Given the description of an element on the screen output the (x, y) to click on. 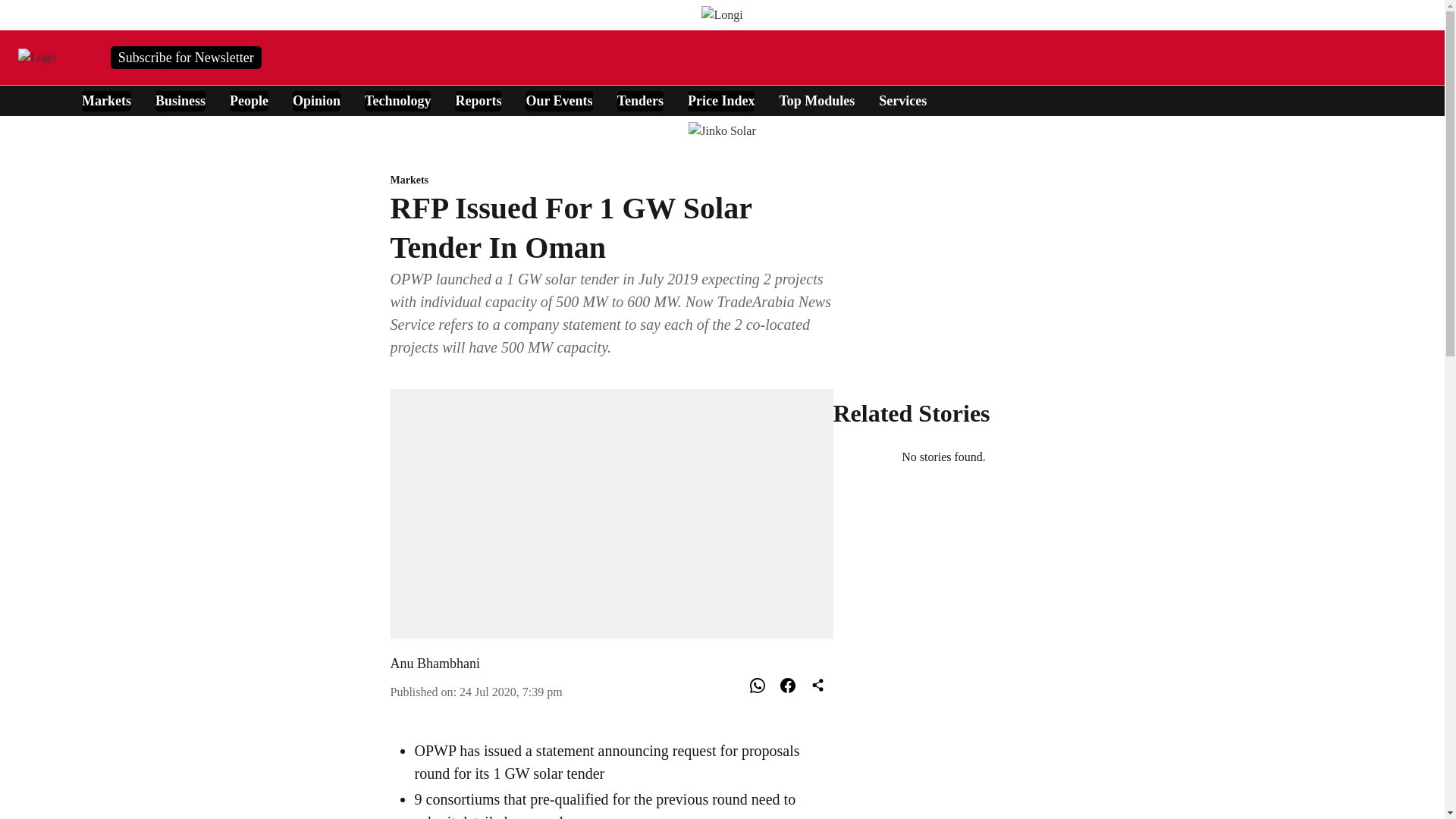
Tenders (640, 100)
Markets (106, 100)
People (248, 100)
Business (180, 100)
Markets (611, 180)
Subscribe for Newsletter (186, 56)
Our Events (558, 100)
Technology (397, 100)
Opinion (316, 100)
2020-07-24 11:39 (511, 691)
Price Index (720, 100)
Anu Bhambhani (435, 662)
Reports (477, 100)
